Given the description of an element on the screen output the (x, y) to click on. 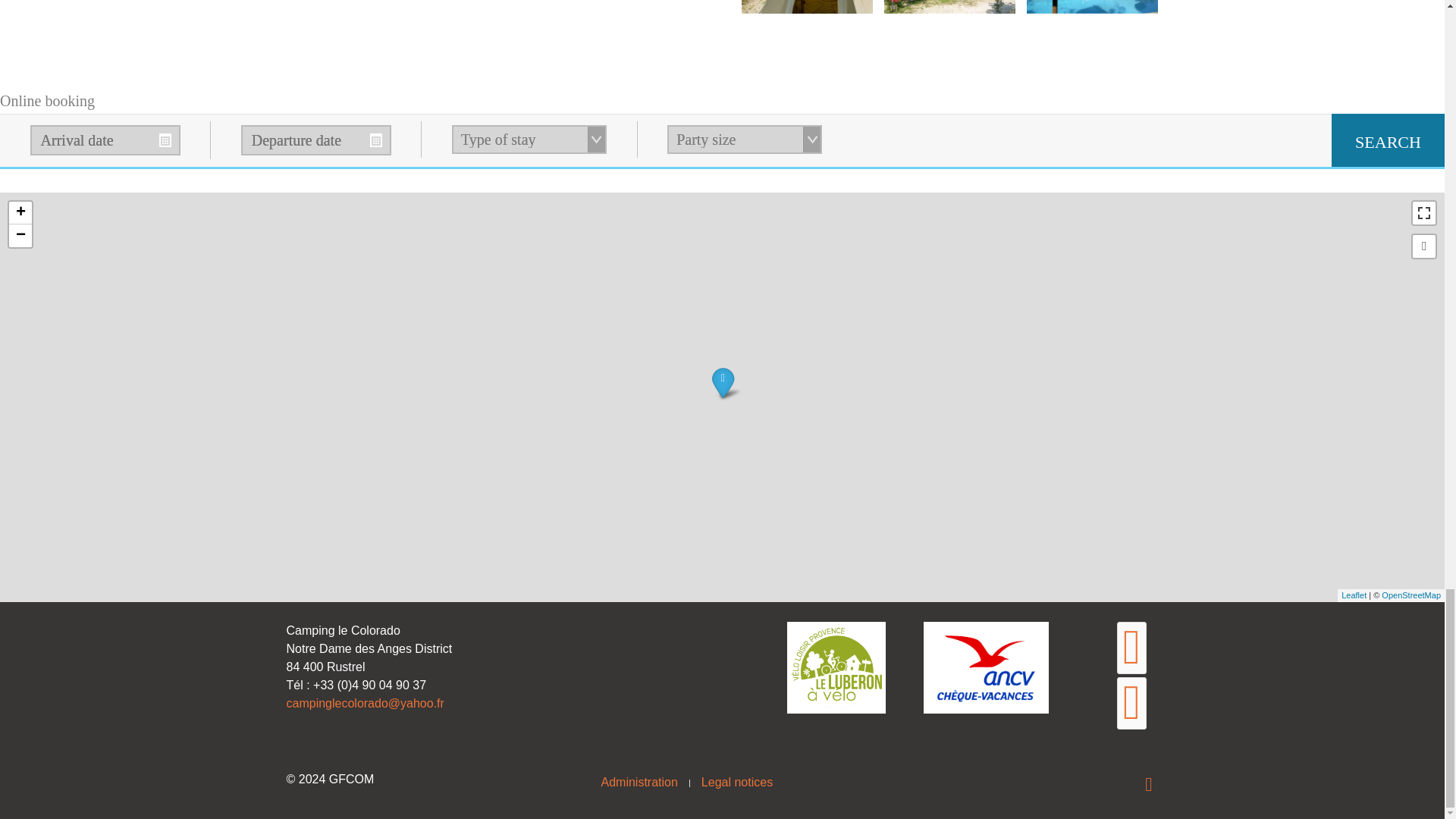
A JS library for interactive maps (1353, 594)
View Fullscreen (1423, 212)
Current Position (1423, 246)
Zoom out (20, 235)
Zoom in (20, 212)
